Given the description of an element on the screen output the (x, y) to click on. 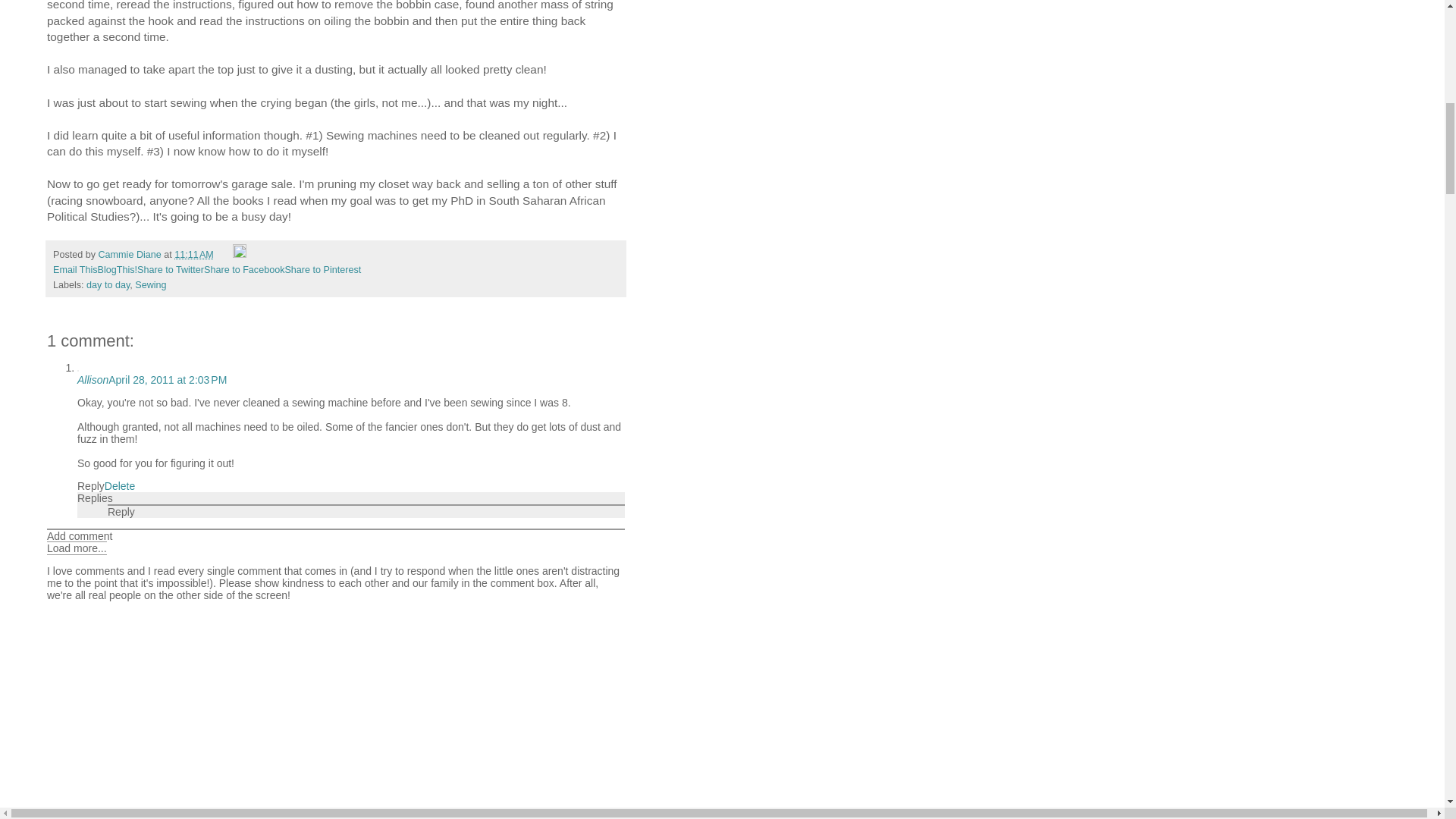
Email This (74, 269)
Reply (121, 511)
Share to Twitter (169, 269)
Share to Pinterest (322, 269)
Replies (95, 498)
Email This (74, 269)
Share to Facebook (243, 269)
Share to Pinterest (322, 269)
Cammie Diane (131, 254)
Share to Twitter (169, 269)
Reply (90, 485)
permanent link (193, 254)
BlogThis! (117, 269)
Delete (119, 485)
